Given the description of an element on the screen output the (x, y) to click on. 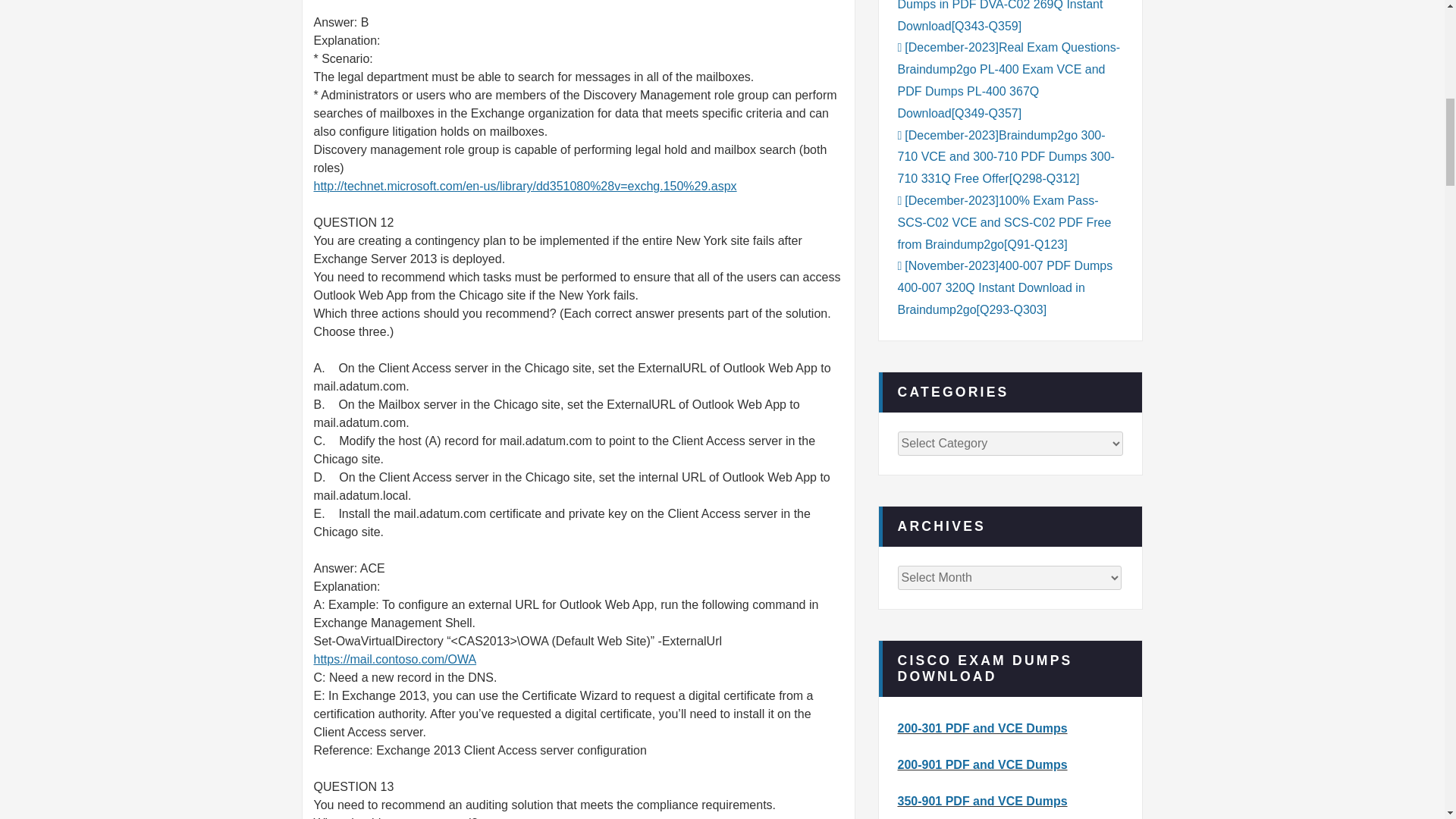
200-301 PDF and VCE Dumps (982, 727)
350-901 PDF and VCE Dumps (982, 800)
200-901 PDF and VCE Dumps (982, 764)
